Given the description of an element on the screen output the (x, y) to click on. 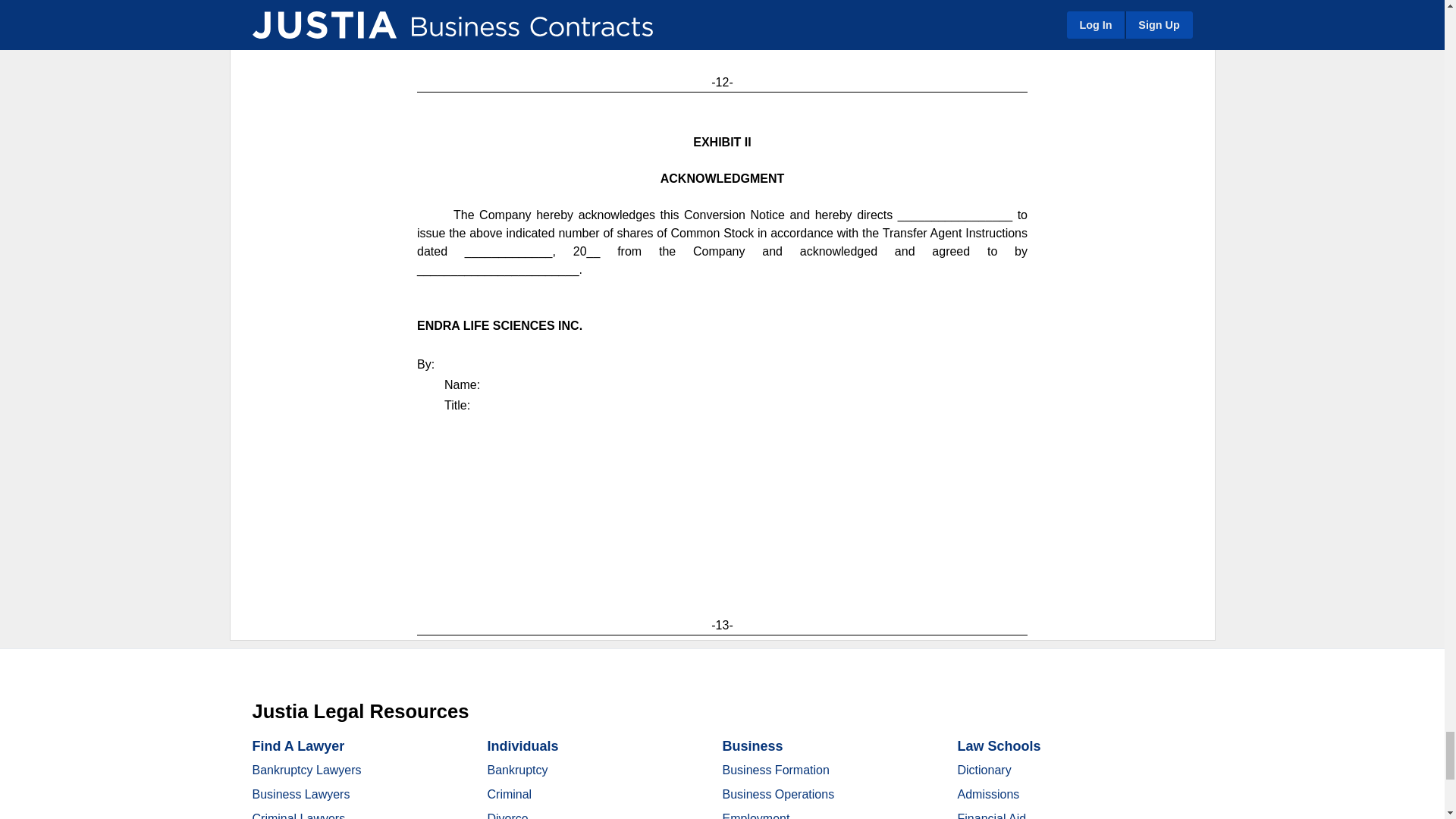
Bankruptcy Lawyers (306, 769)
Find A Lawyer (297, 745)
Business Lawyers (300, 793)
Criminal Lawyers (298, 815)
